Given the description of an element on the screen output the (x, y) to click on. 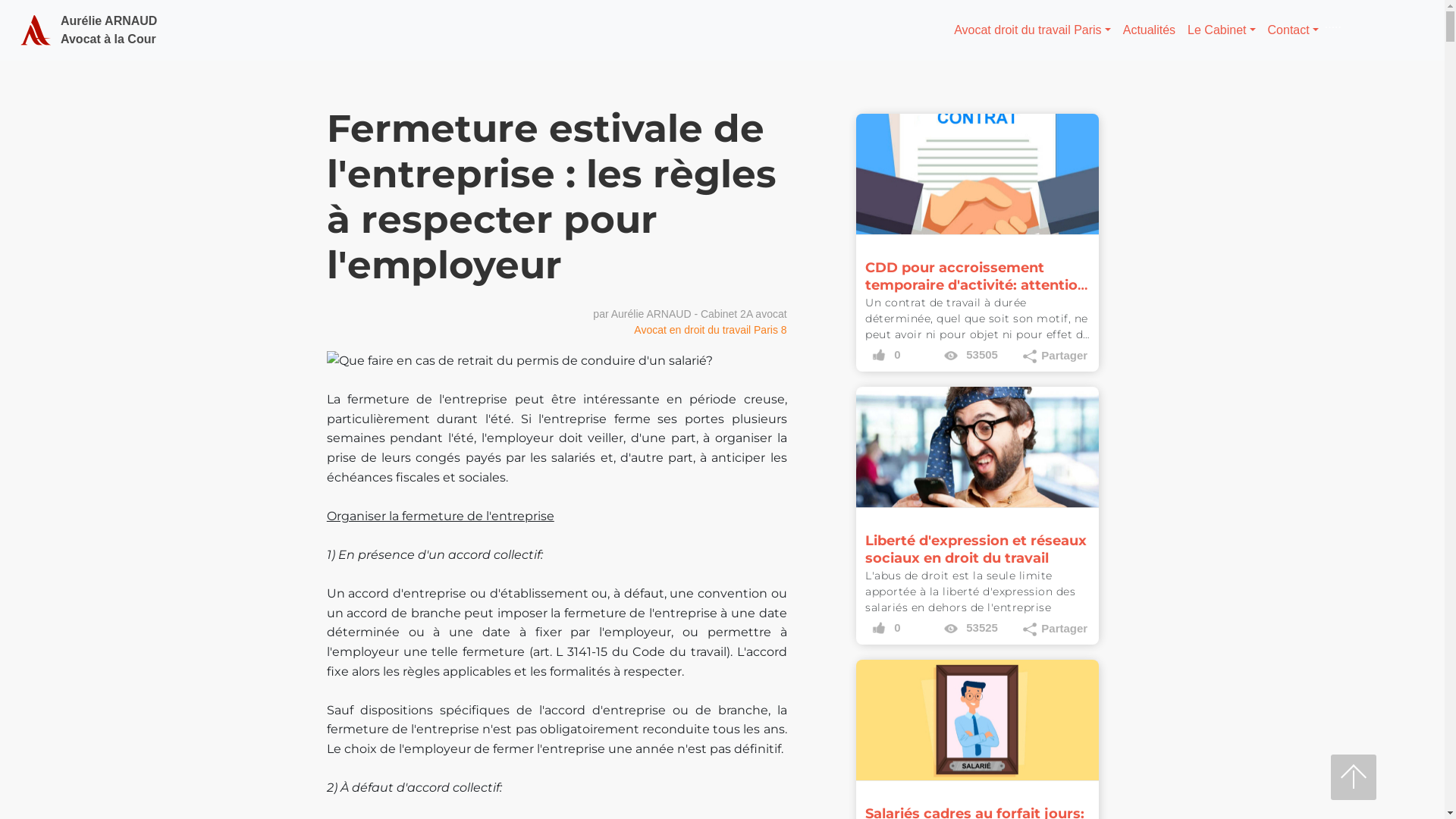
Contact Element type: text (1292, 30)
Partager Element type: text (1053, 356)
Le Cabinet Element type: text (1221, 30)
Avocat droit du travail Paris Element type: hover (36, 30)
Avocat droit du travail Paris Element type: text (1032, 30)
Avocat en droit du travail Paris 8 Element type: text (709, 329)
Partager Element type: text (1053, 629)
